Given the description of an element on the screen output the (x, y) to click on. 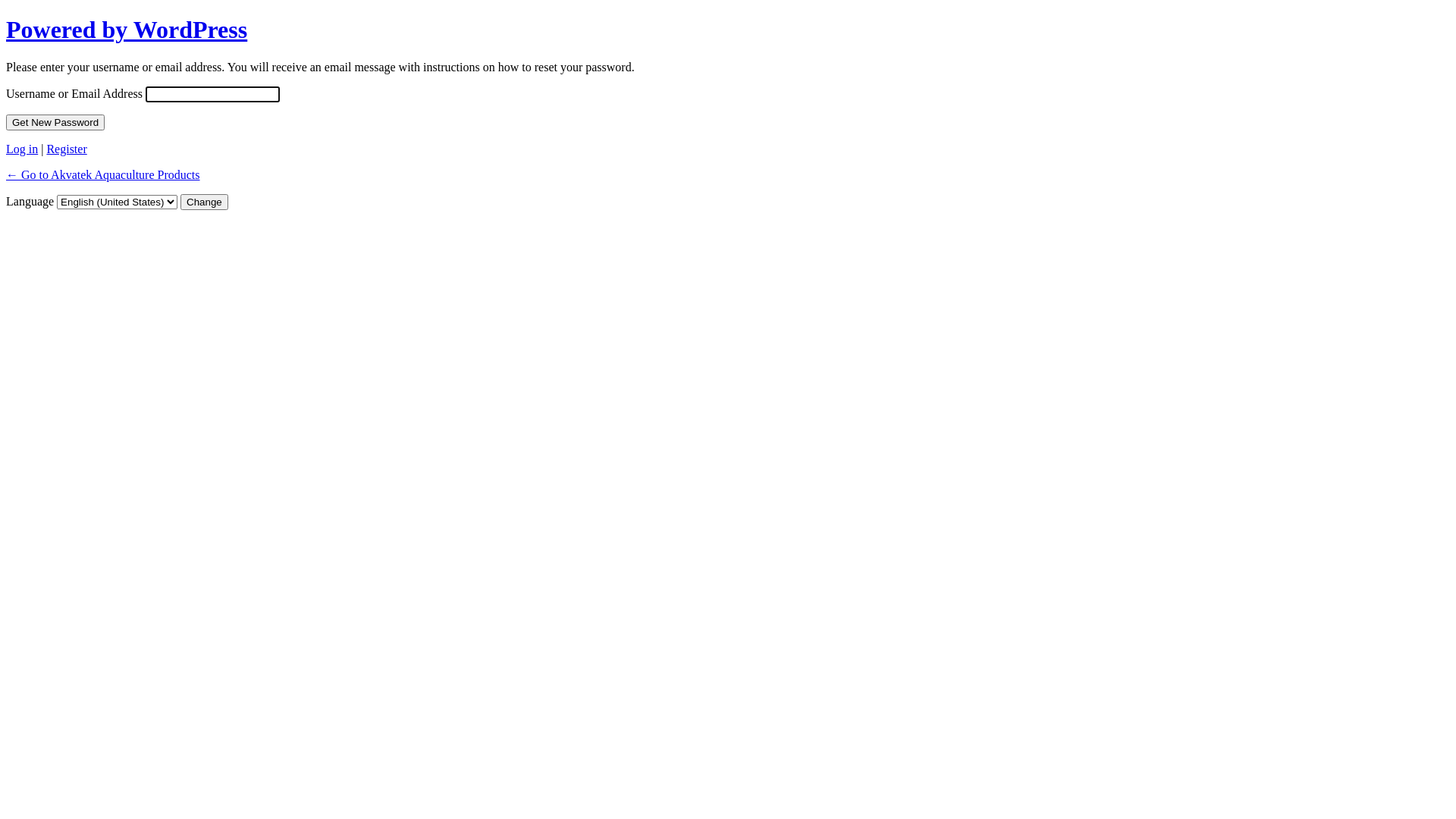
Get New Password Element type: text (55, 122)
Log in Element type: text (21, 148)
Change Element type: text (204, 202)
Powered by WordPress Element type: text (126, 29)
Register Element type: text (66, 148)
